Given the description of an element on the screen output the (x, y) to click on. 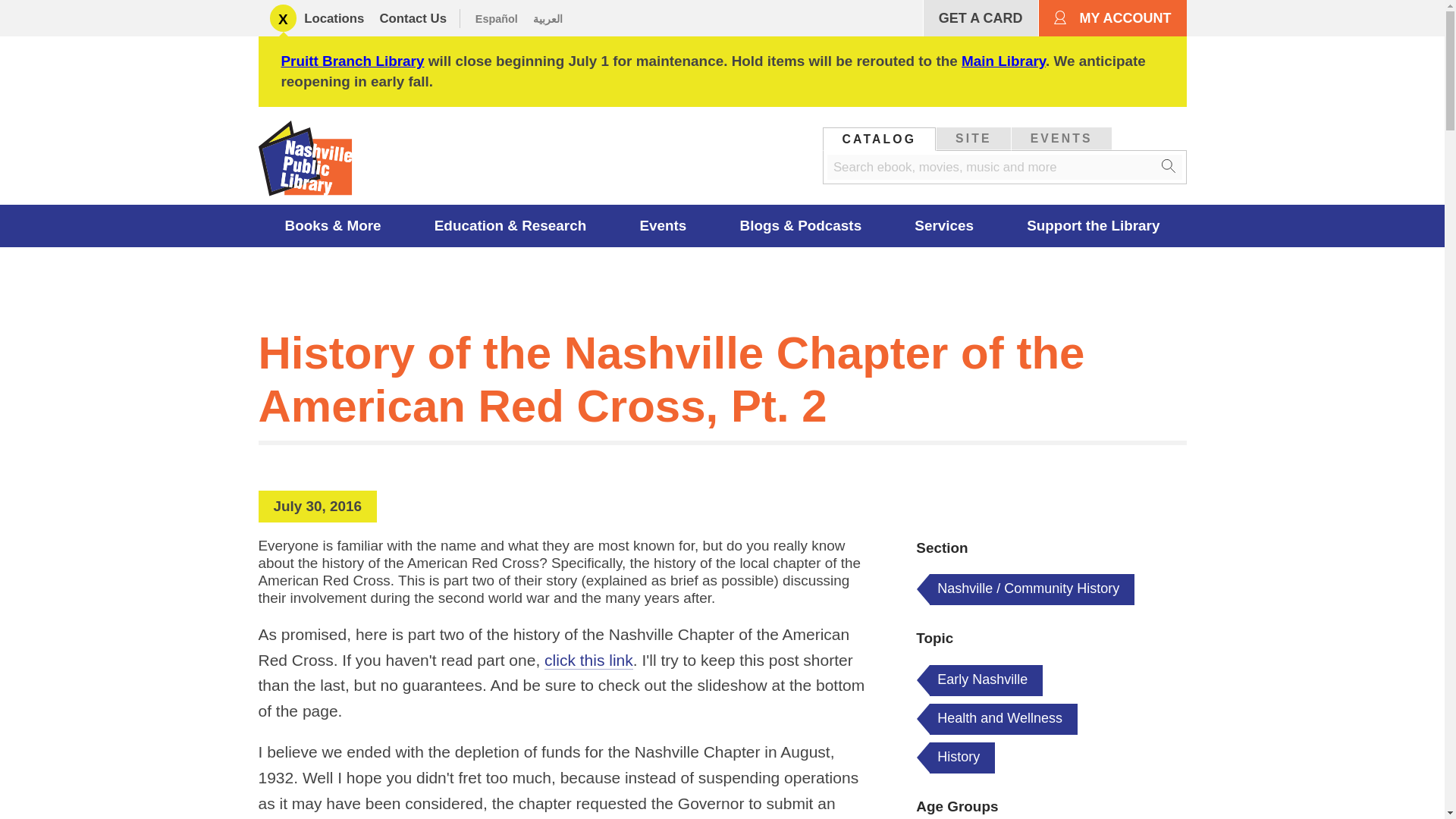
CATALOG (880, 138)
Locations (334, 18)
Main Library (1002, 60)
MY ACCOUNT (1112, 18)
SITE (973, 138)
Search (1168, 166)
Search (1168, 166)
Pruitt Branch Library (352, 60)
EVENTS (1061, 138)
GET A CARD (980, 18)
Events (662, 226)
Support the Library (1093, 226)
Services (944, 226)
Contact Us (412, 18)
